Given the description of an element on the screen output the (x, y) to click on. 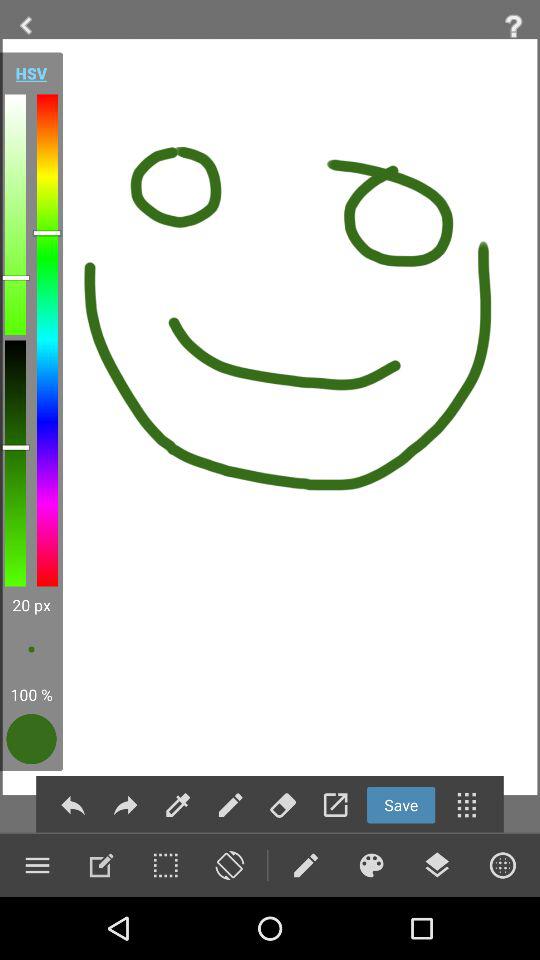
pending (371, 865)
